Given the description of an element on the screen output the (x, y) to click on. 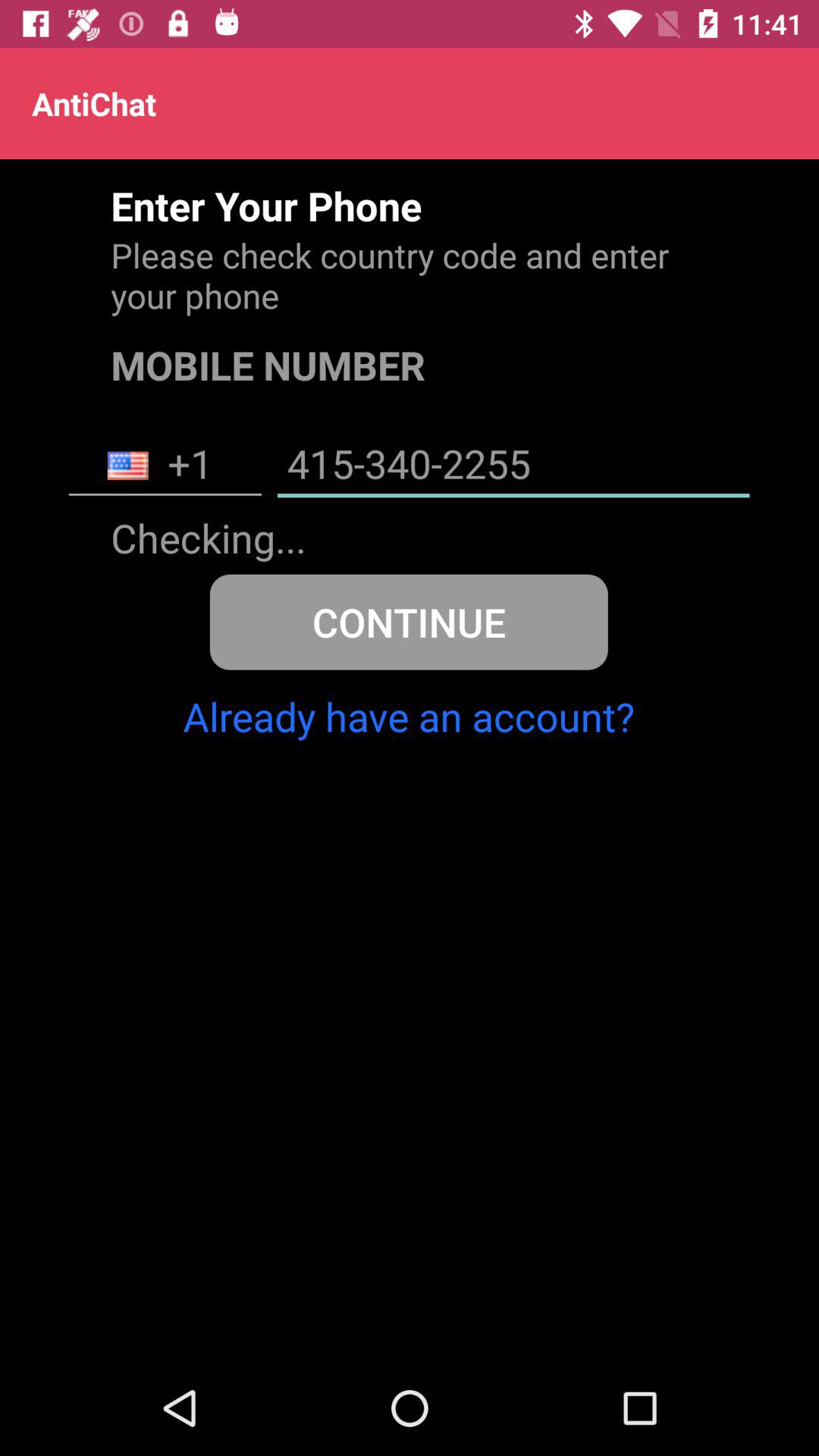
turn on the item next to the  415-340-2255 (164, 466)
